Given the description of an element on the screen output the (x, y) to click on. 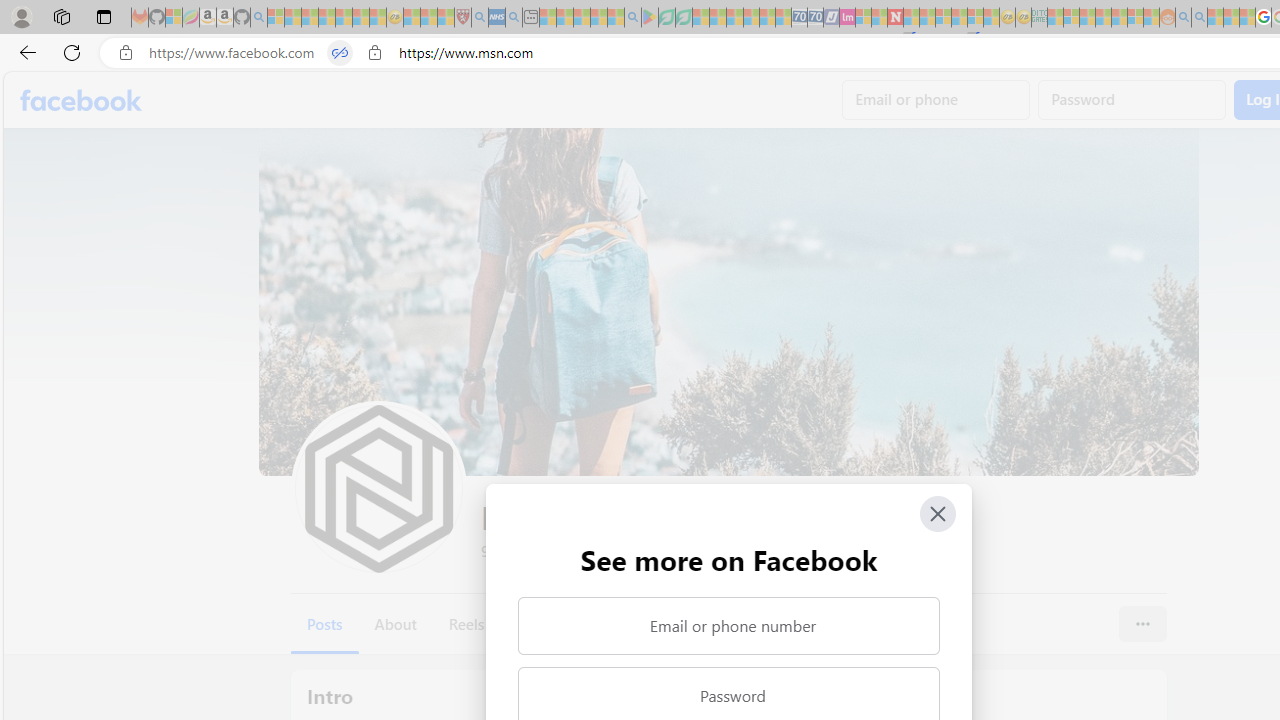
list of asthma inhalers uk - Search - Sleeping (479, 17)
Utah sues federal government - Search - Sleeping (1199, 17)
Tab actions menu (104, 16)
Microsoft Start - Sleeping (1215, 17)
Kinda Frugal - MSN - Sleeping (1119, 17)
Expert Portfolios - Sleeping (1103, 17)
Recipes - MSN - Sleeping (411, 17)
Email or phone (936, 99)
Cheap Car Rentals - Save70.com - Sleeping (799, 17)
